Given the description of an element on the screen output the (x, y) to click on. 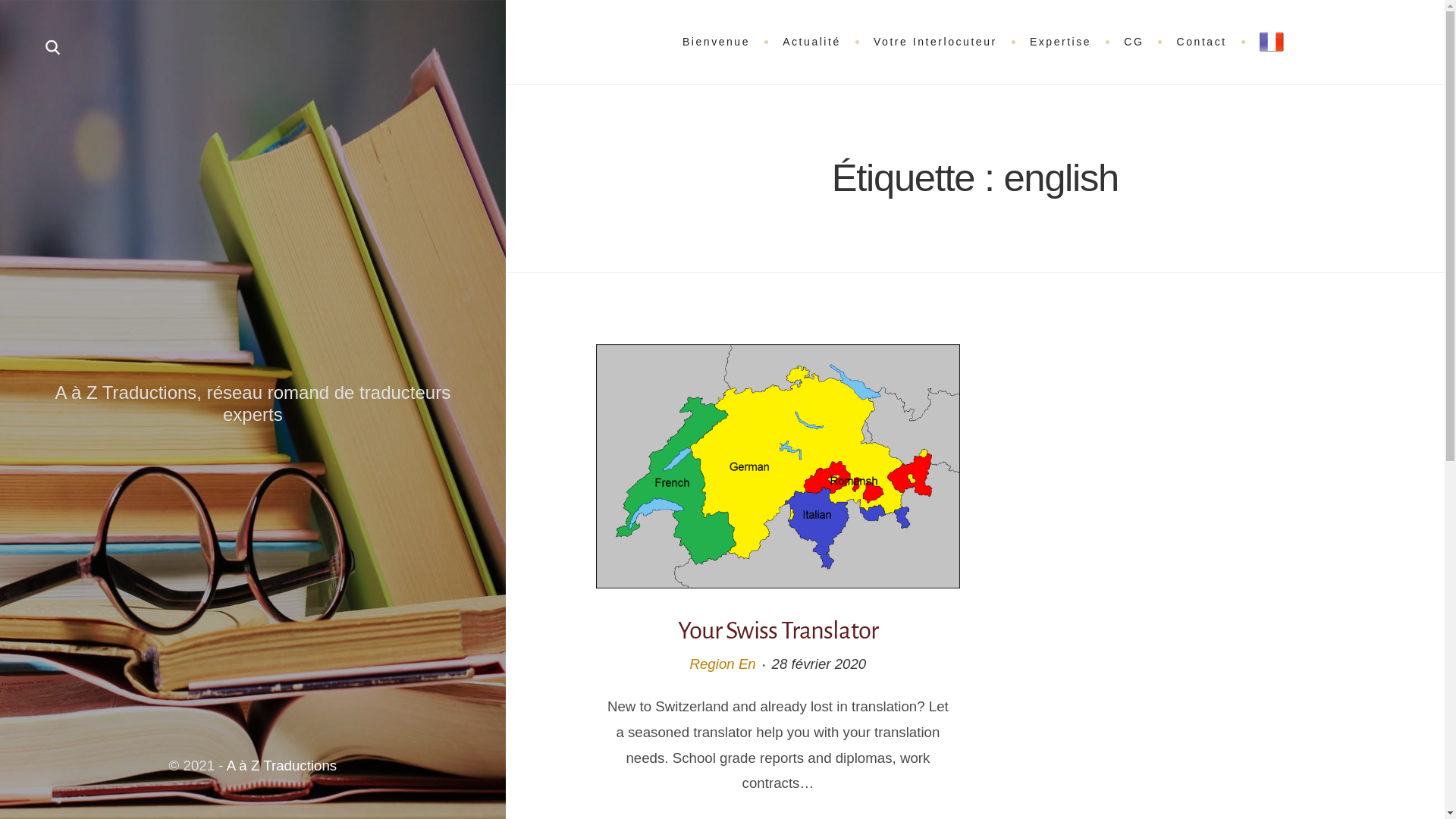
Expertise Element type: text (1060, 41)
Bienvenue Element type: text (716, 41)
Votre Interlocuteur Element type: text (935, 41)
Region En Element type: text (722, 663)
Contact Element type: text (1200, 41)
CG Element type: text (1133, 41)
Your Swiss Translator Element type: text (777, 630)
